Given the description of an element on the screen output the (x, y) to click on. 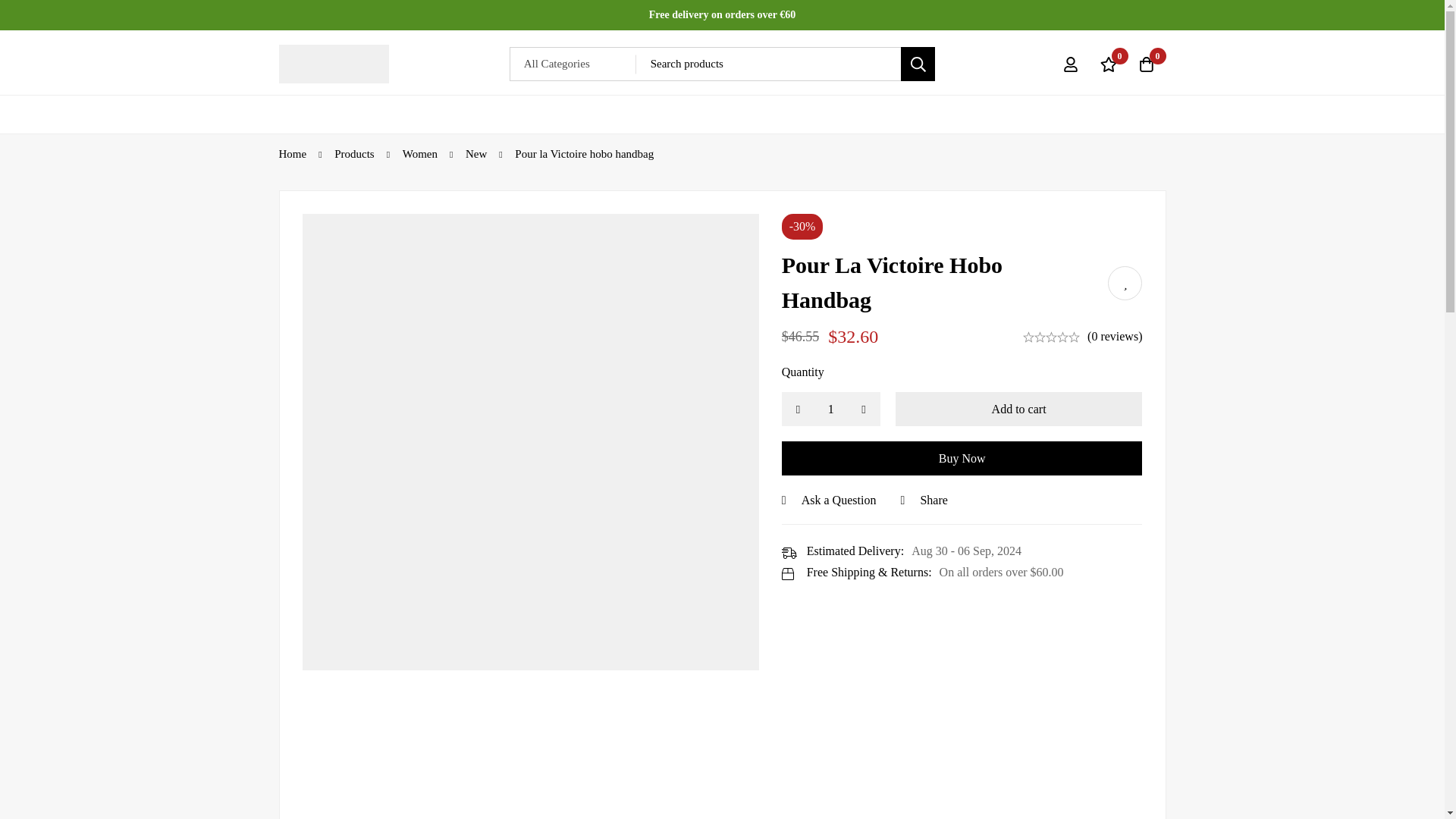
Search for: (786, 63)
Home (293, 153)
Add To Wishlist (1124, 283)
- (797, 408)
Share (923, 500)
New (475, 153)
1 (830, 408)
Products (354, 153)
0 (1145, 64)
Ask a Question (828, 500)
